Given the description of an element on the screen output the (x, y) to click on. 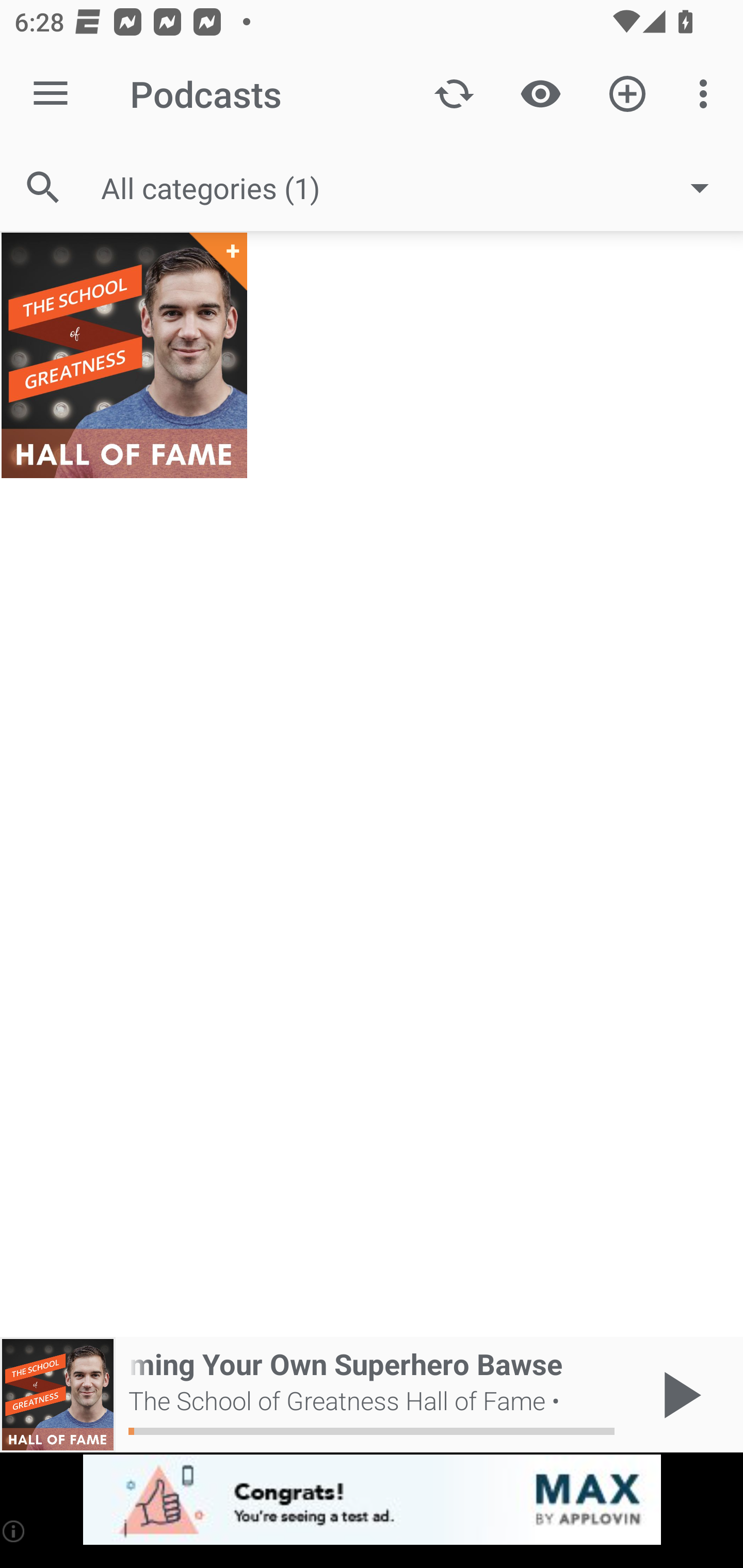
Open navigation sidebar (50, 93)
Update (453, 93)
Show / Hide played content (540, 93)
Add new Podcast (626, 93)
More options (706, 93)
Search (43, 187)
All categories (1) (414, 188)
The School of Greatness Hall of Fame + (124, 355)
Play / Pause (677, 1394)
app-monetization (371, 1500)
(i) (14, 1531)
